Given the description of an element on the screen output the (x, y) to click on. 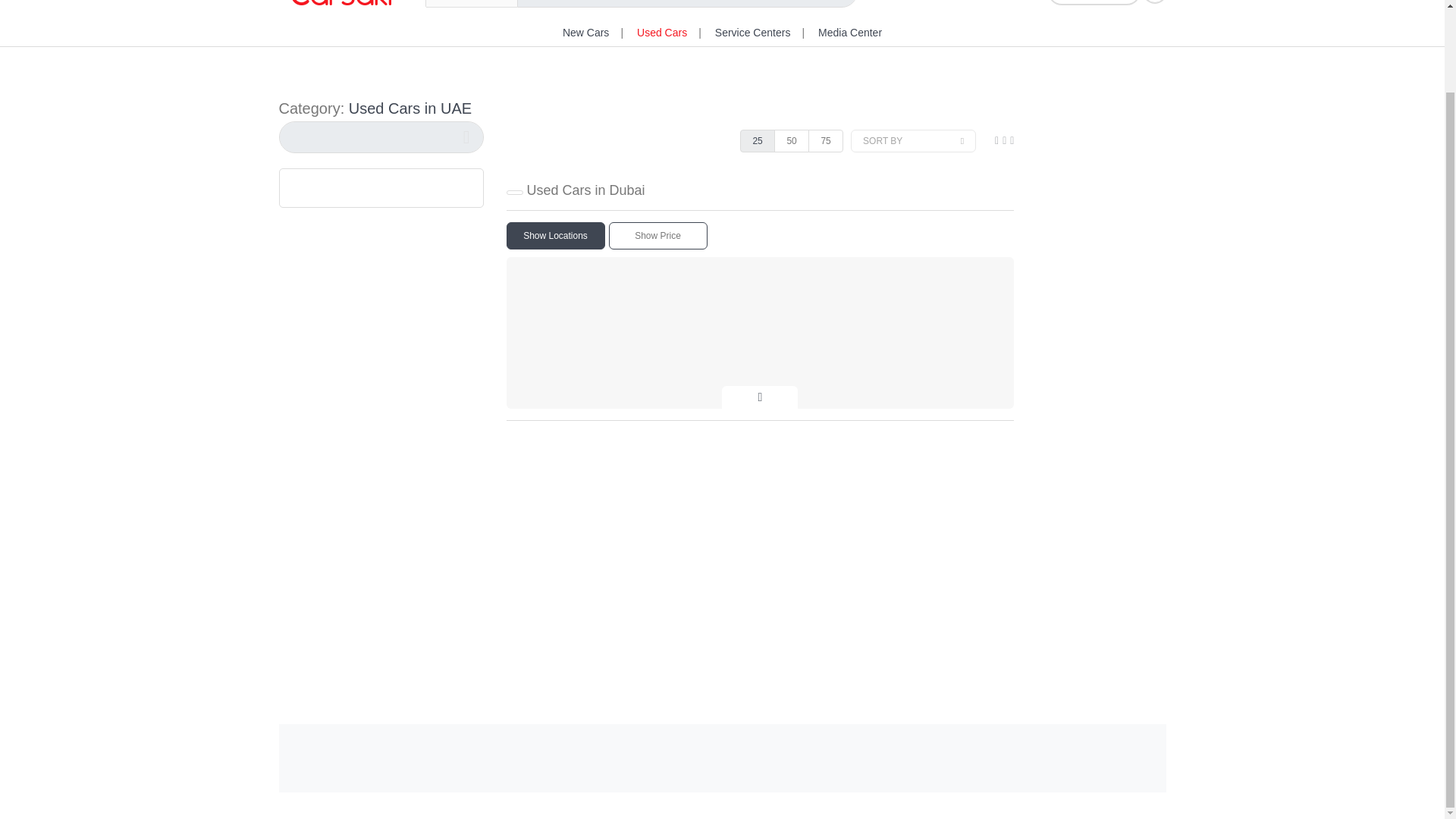
Compare (1093, 2)
SORT BY (912, 140)
75 (825, 140)
25 (756, 140)
0 (1154, 1)
50 (791, 140)
Media Center (850, 32)
New Cars (585, 32)
Enter at least 2 Character to search (381, 137)
Show Locations (555, 235)
Used Cars (662, 32)
Show Price (657, 235)
Used Cars (662, 32)
Service Centers (752, 32)
